Given the description of an element on the screen output the (x, y) to click on. 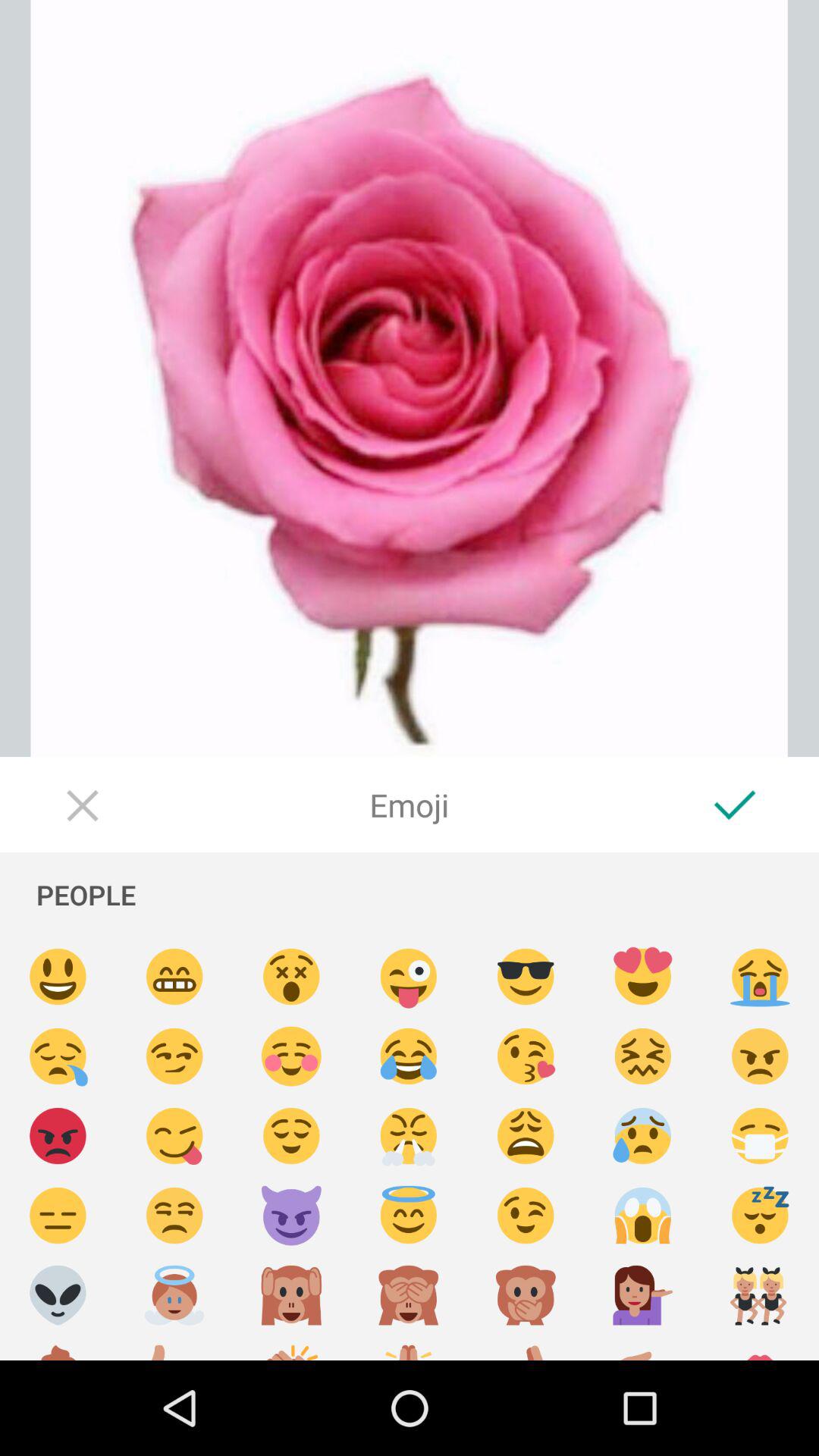
select alien emoticon (58, 1295)
